Given the description of an element on the screen output the (x, y) to click on. 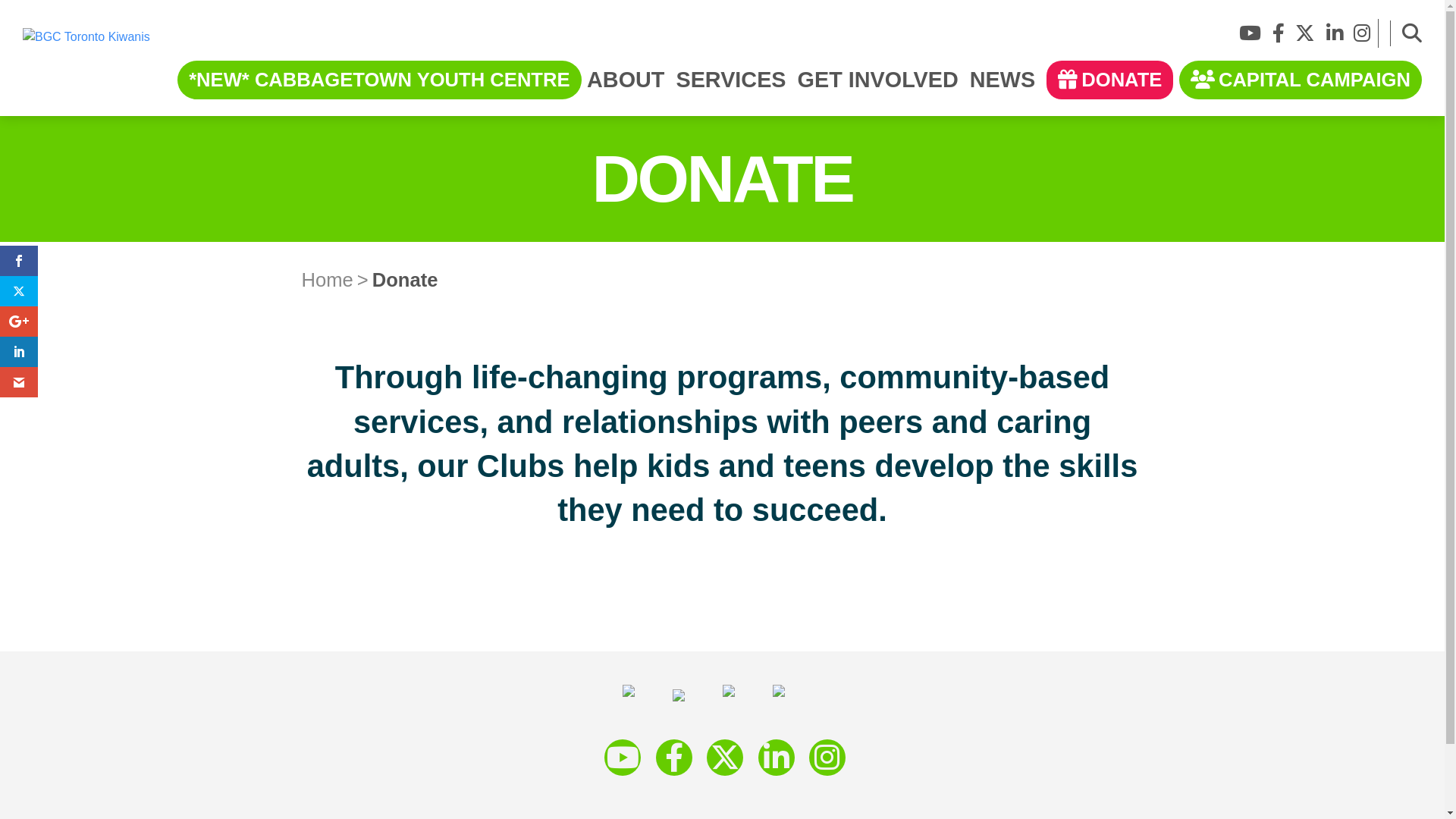
*NEW* CABBAGETOWN YOUTH CENTRE Element type: text (378, 79)
ABOUT Element type: text (625, 85)
SERVICES Element type: text (730, 85)
DONATE Element type: text (1109, 79)
NEWS Element type: text (1001, 85)
CAPITAL CAMPAIGN Element type: text (1300, 79)
GET INVOLVED Element type: text (877, 85)
Home Element type: text (327, 279)
